Given the description of an element on the screen output the (x, y) to click on. 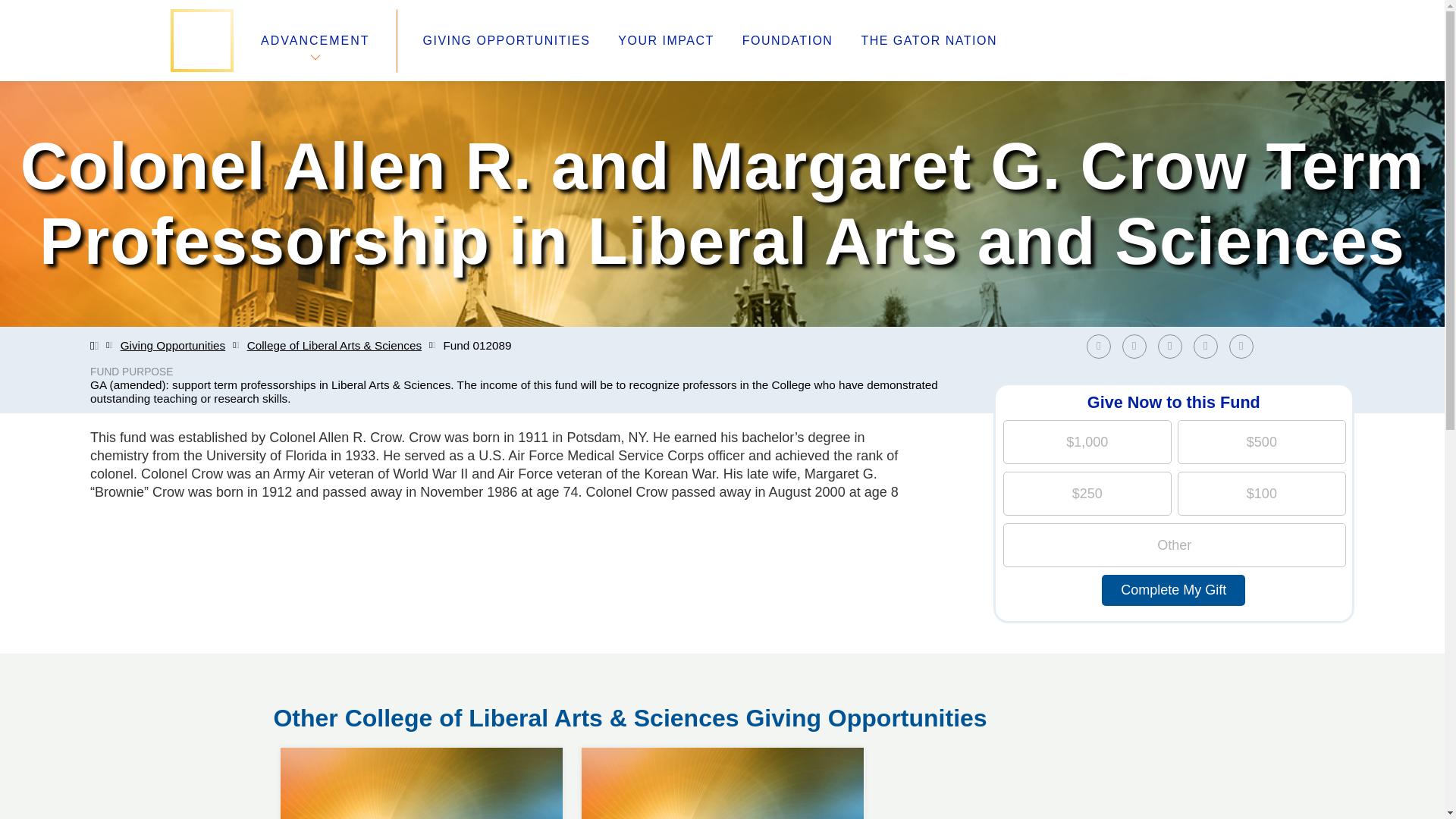
FOUNDATION (787, 40)
ADVANCEMENT (314, 40)
GIVING OPPORTUNITIES (507, 40)
Share on Reddit (1205, 346)
THE GATOR NATION (928, 40)
Share on Twitter (1138, 345)
Share on Facebook (1102, 345)
Complete My Gift (1173, 590)
Giving Opportunities (172, 345)
Share on Twitter (1134, 346)
Share by Email (1244, 345)
Share on Facebook (1098, 346)
Share on LinkedIn (1169, 346)
